Given the description of an element on the screen output the (x, y) to click on. 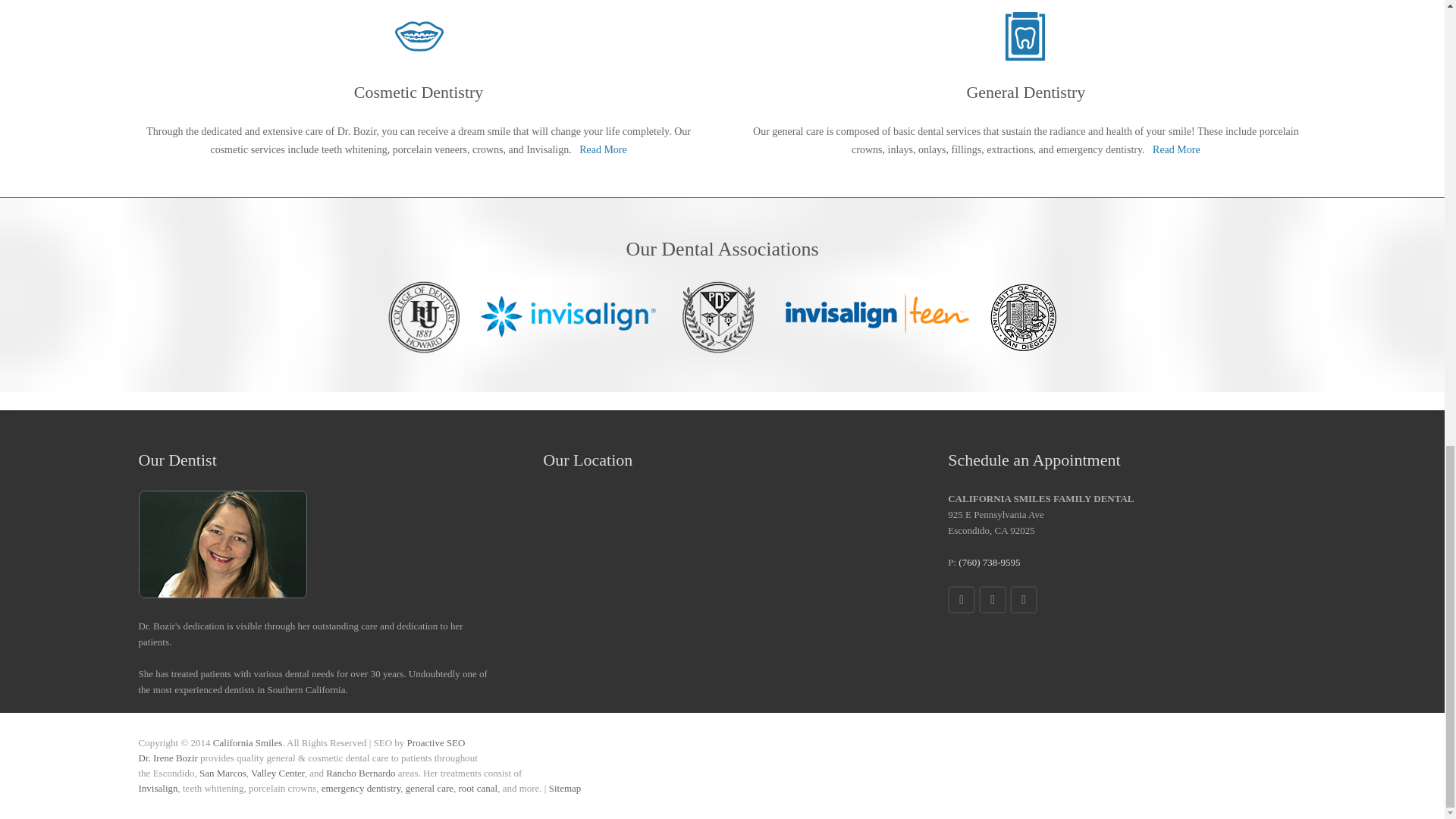
Proactive SEO (436, 742)
Rancho Bernardo (360, 772)
Dr. Irene Bozir (167, 757)
emergency dentistry (361, 787)
Valley Center (277, 772)
Invisalign (157, 787)
Read More (1176, 149)
Read More (603, 149)
Sitemap (564, 787)
California Smiles (247, 742)
